Given the description of an element on the screen output the (x, y) to click on. 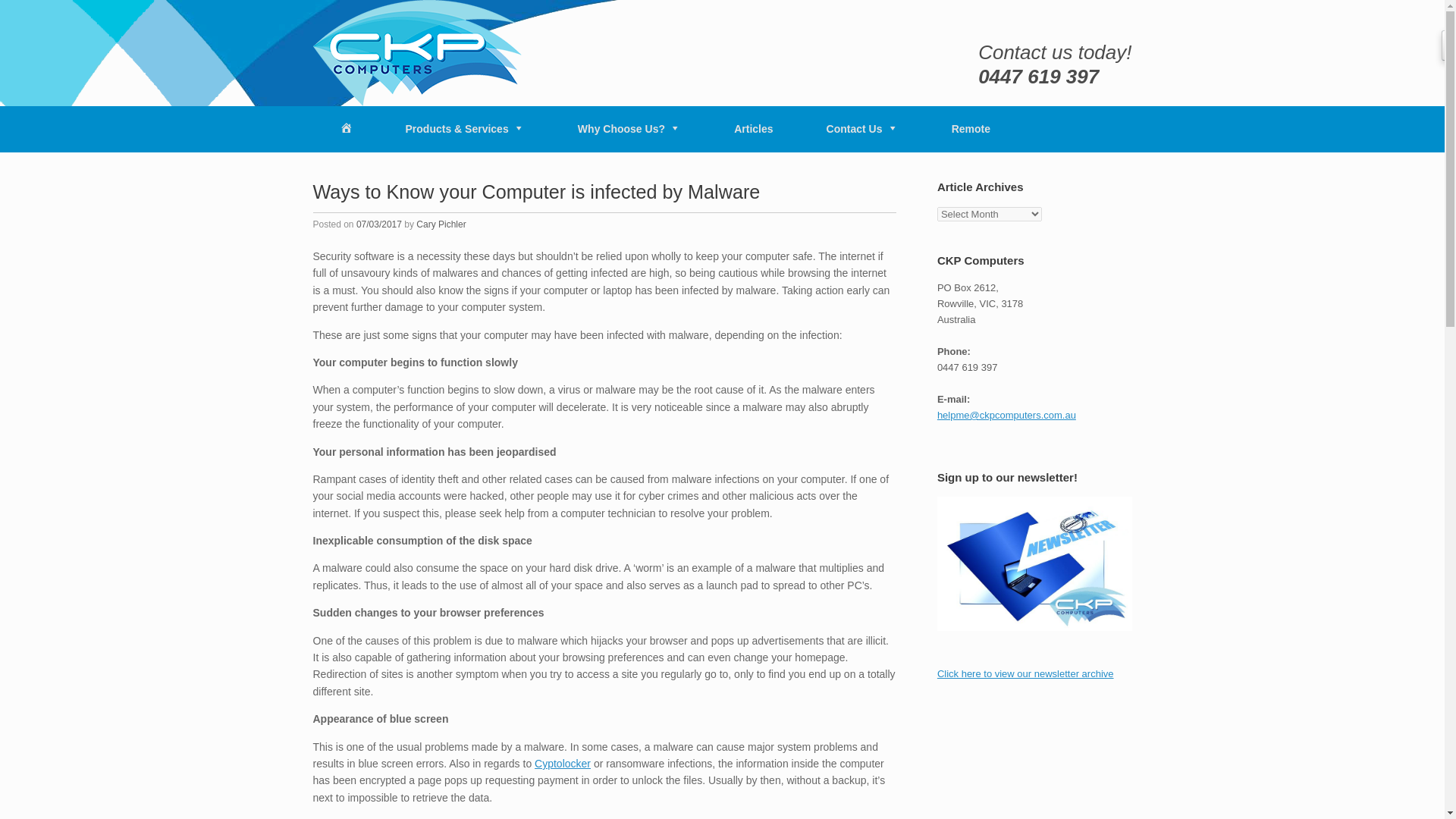
Cary Pichler (440, 224)
Click here to view our newsletter archive (1025, 673)
CKP Computers (417, 53)
Why Choose Us? (629, 129)
Home (345, 129)
Cyptolocker (562, 763)
Remote (970, 129)
9:05 am (378, 224)
View all posts by Cary Pichler (440, 224)
